Given the description of an element on the screen output the (x, y) to click on. 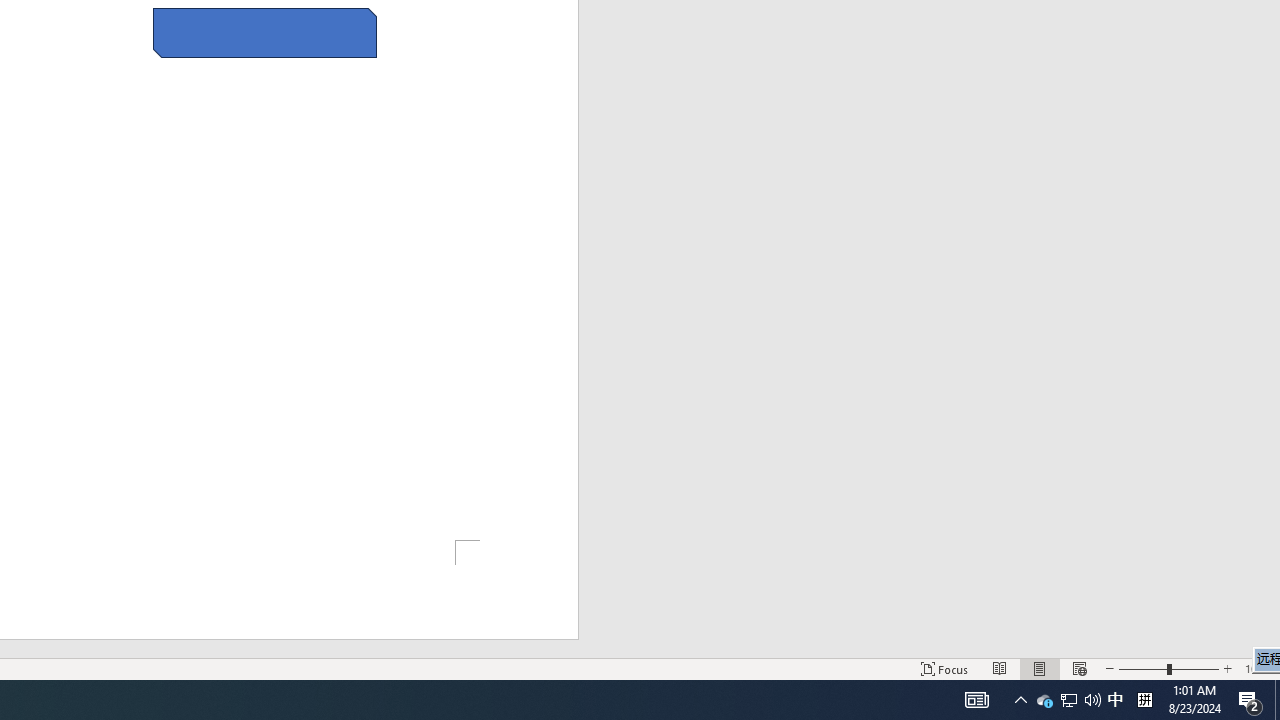
Print Layout (1039, 668)
Zoom (1168, 668)
Zoom Out (1142, 668)
Read Mode (1000, 668)
Rectangle: Diagonal Corners Snipped 2 (265, 32)
Zoom 104% (1258, 668)
Focus  (944, 668)
Web Layout (1079, 668)
Zoom In (1227, 668)
